Given the description of an element on the screen output the (x, y) to click on. 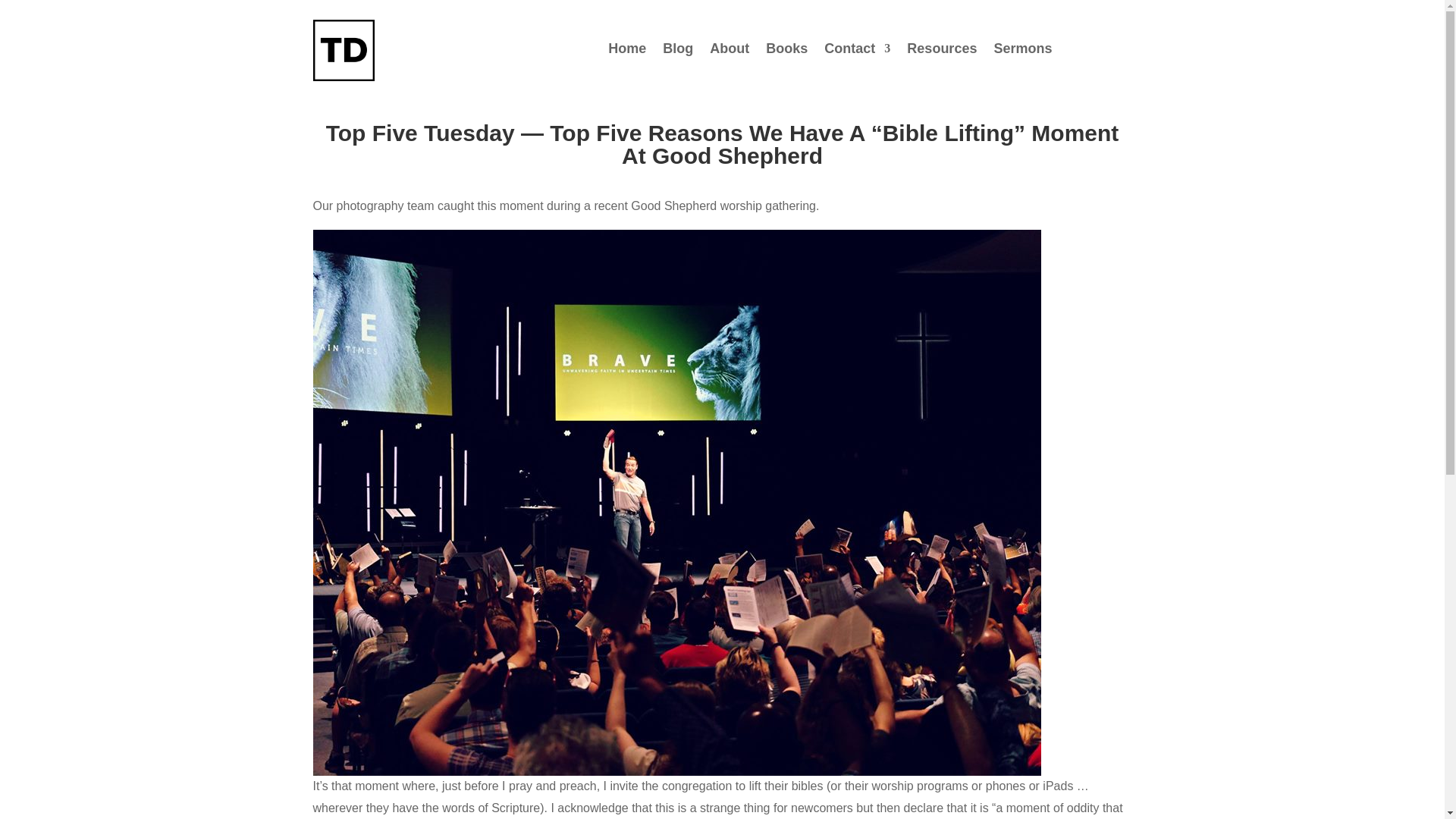
Contact (856, 51)
Blog (677, 51)
About (729, 51)
Home (627, 51)
td-logo (343, 50)
Resources (941, 51)
Sermons (1021, 51)
Books (786, 51)
